Given the description of an element on the screen output the (x, y) to click on. 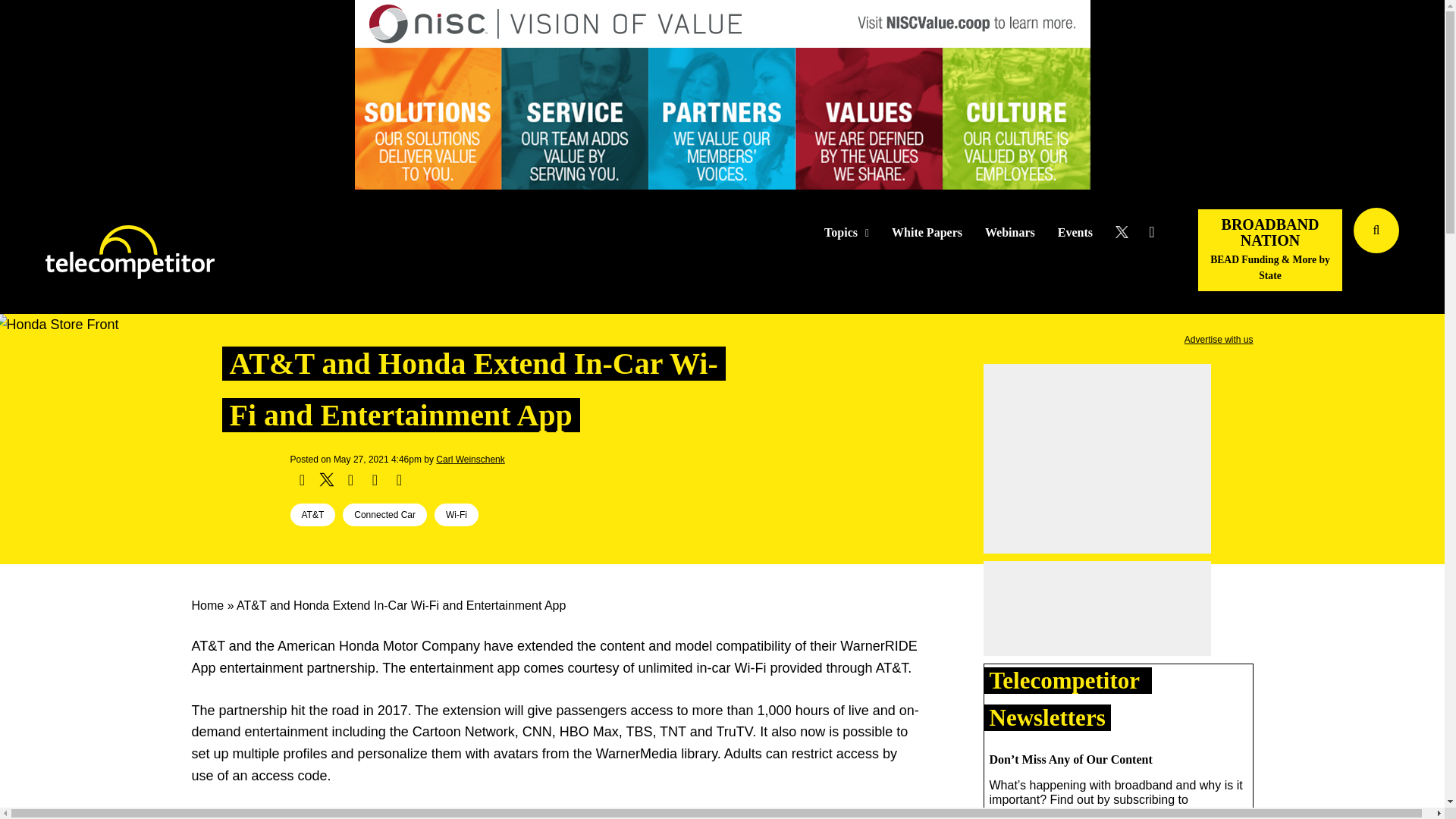
Spread the word on Twitter (325, 479)
White Papers (927, 232)
Follow Us on LinkedIN (1151, 232)
Follow Us on Twitter (1127, 232)
Search telecompetitor.com (1376, 230)
Events (1074, 232)
Pinterest (374, 479)
Webinars (1010, 232)
Search (1430, 253)
